Given the description of an element on the screen output the (x, y) to click on. 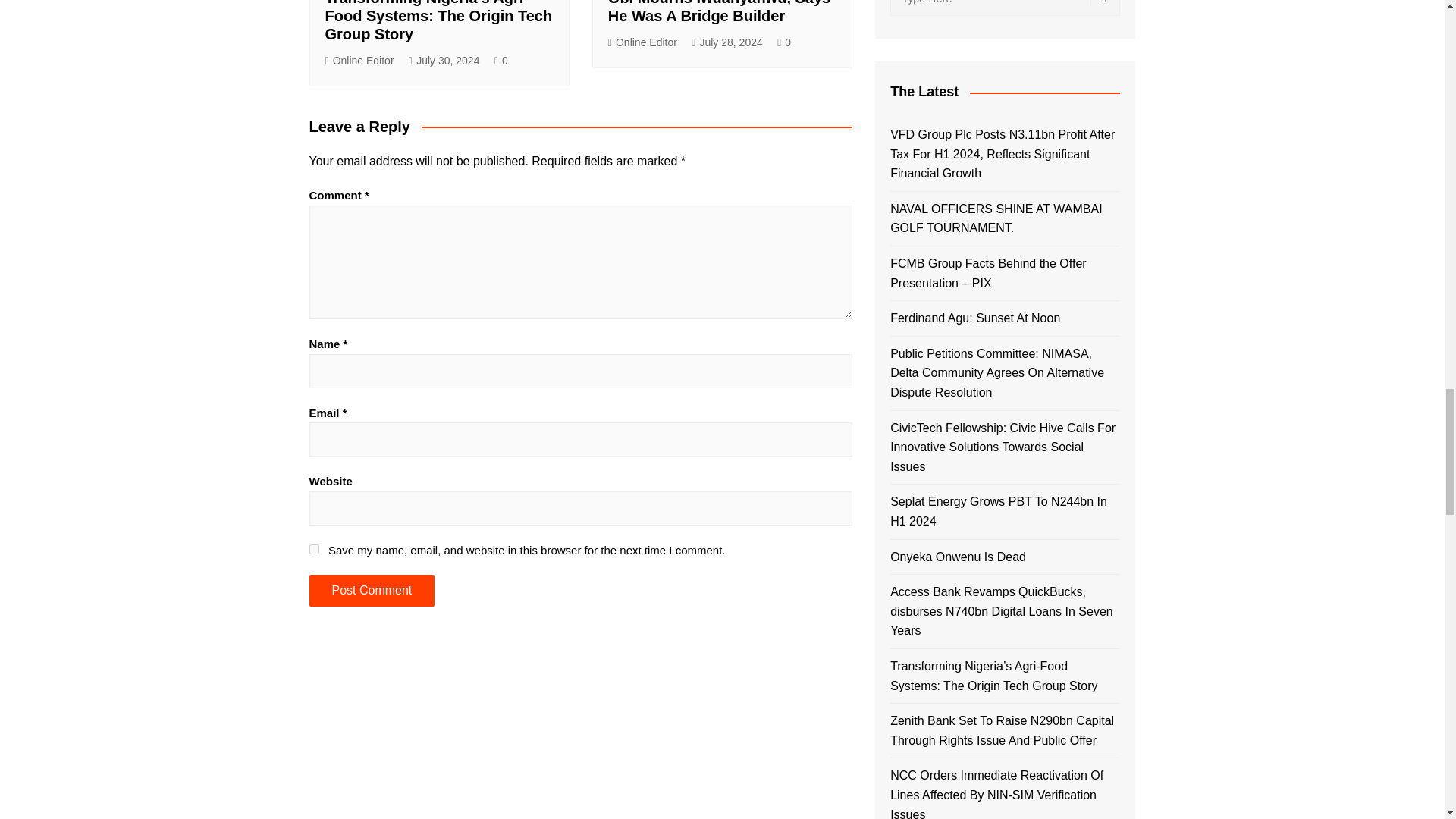
yes (313, 549)
Post Comment (371, 590)
